Given the description of an element on the screen output the (x, y) to click on. 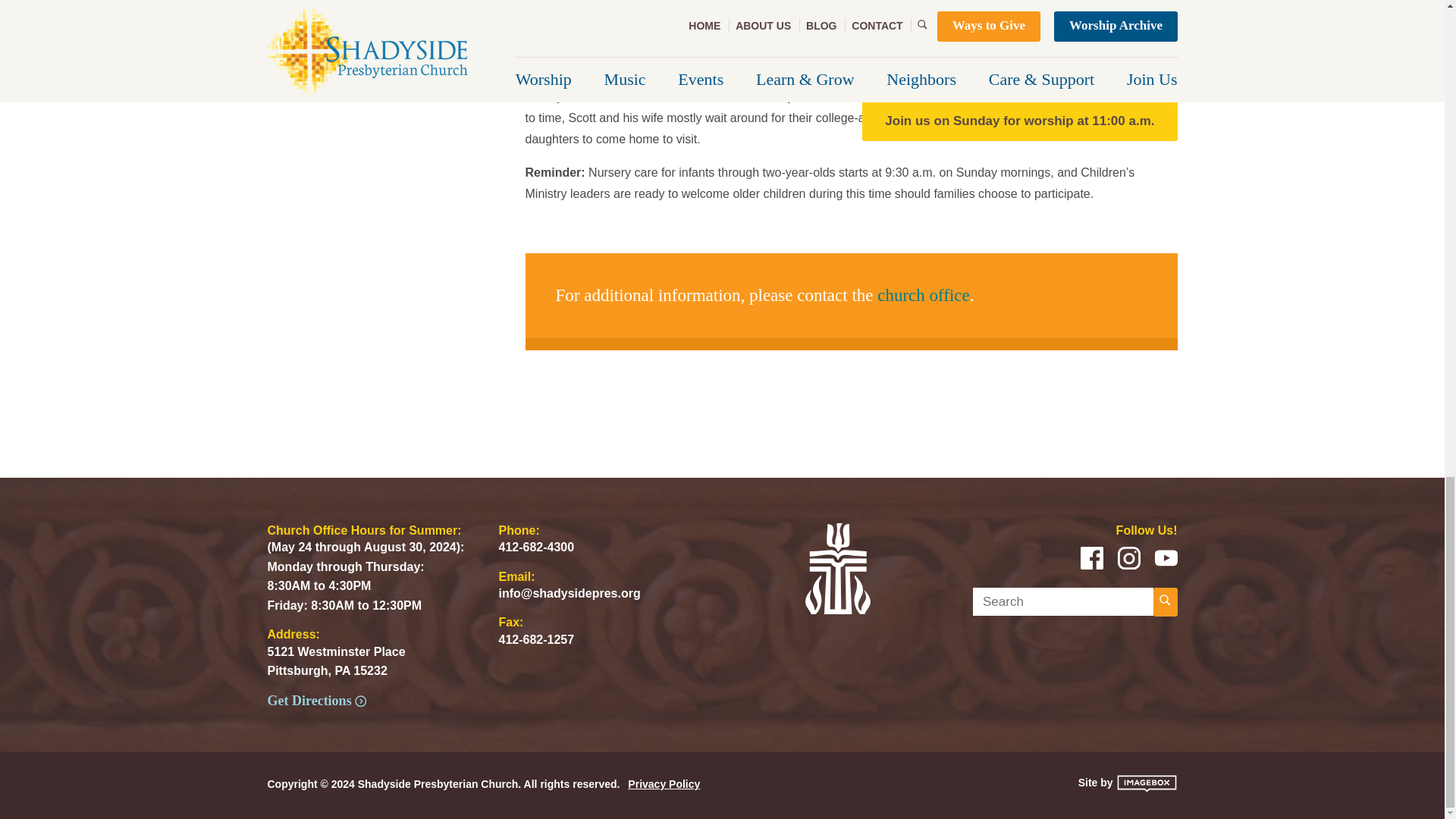
Search for: (1062, 601)
